Given the description of an element on the screen output the (x, y) to click on. 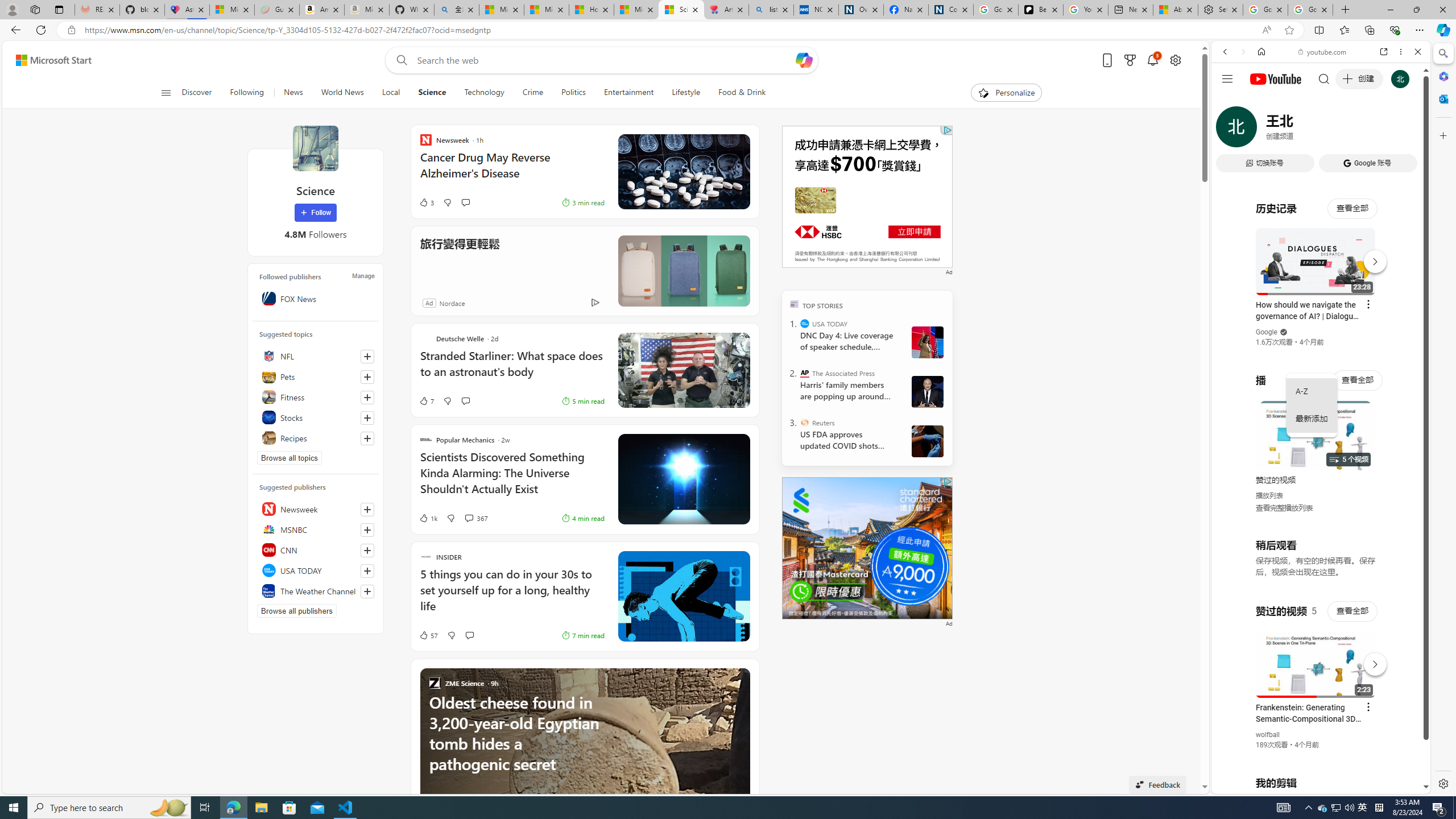
TOP (794, 302)
Food & Drink (741, 92)
